Given the description of an element on the screen output the (x, y) to click on. 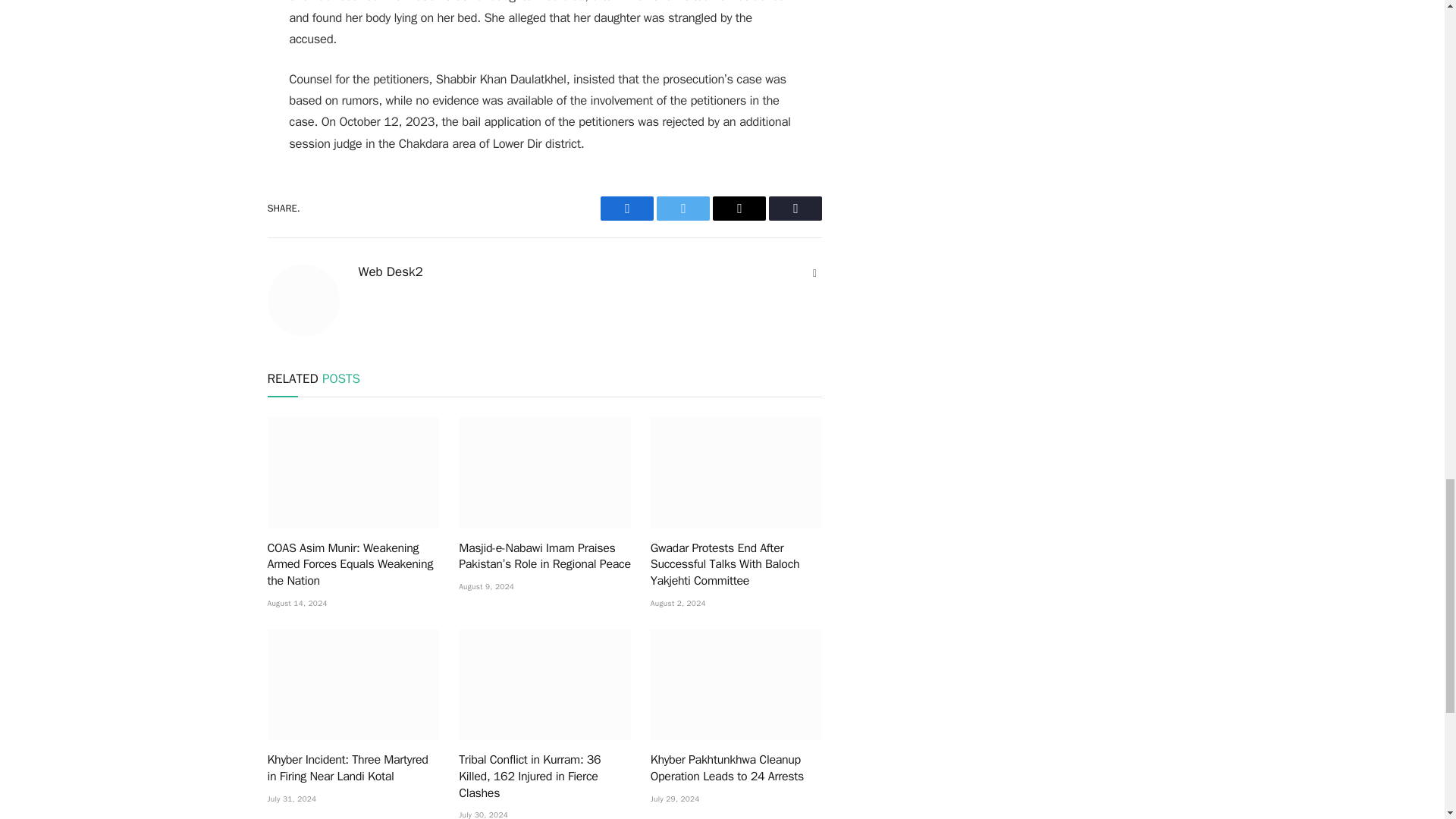
Posts by Web Desk2 (390, 272)
Share via Email (739, 208)
Share on Facebook (626, 208)
Copy Link (795, 208)
